Given the description of an element on the screen output the (x, y) to click on. 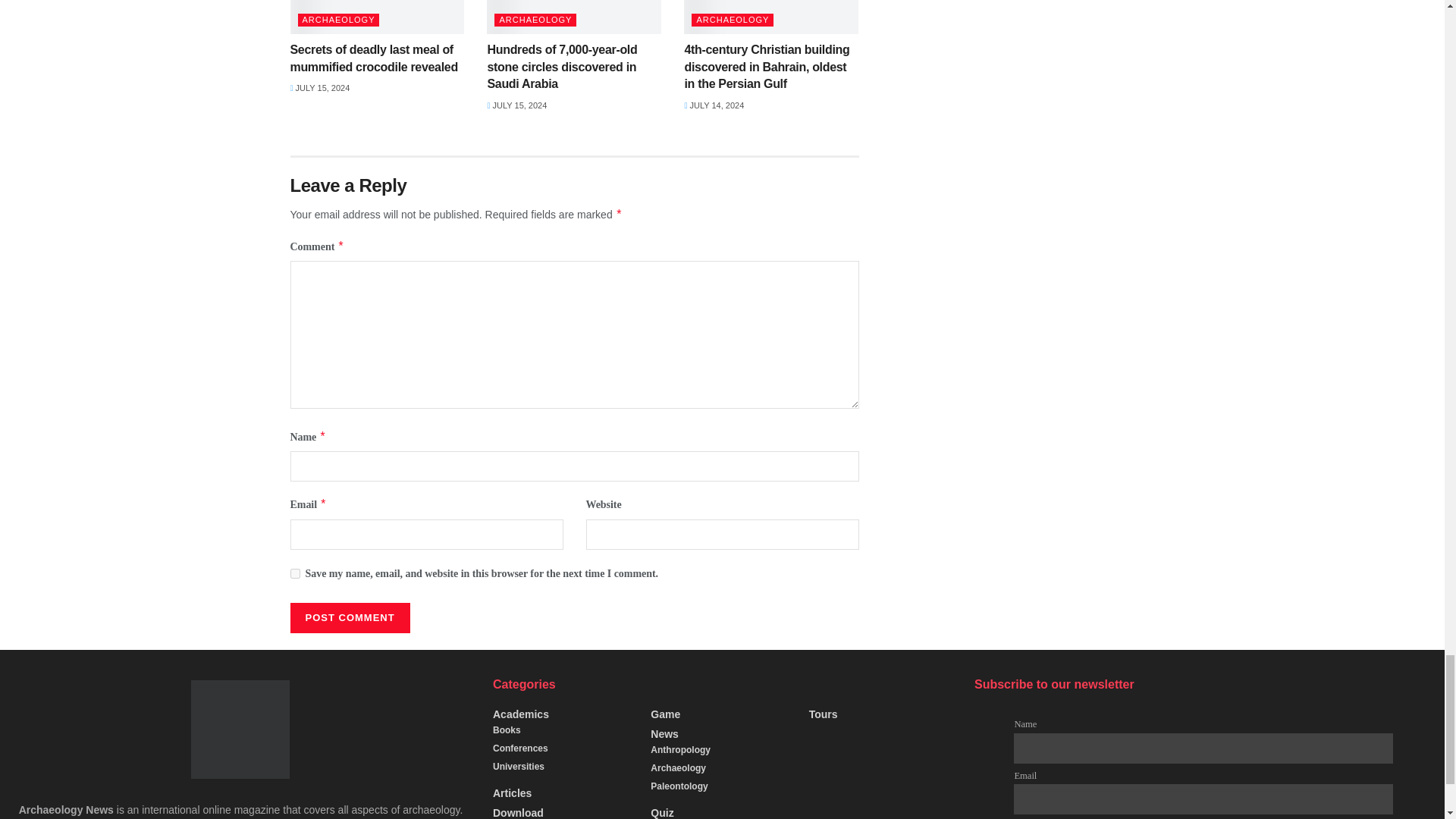
yes (294, 573)
Post Comment (349, 617)
